Given the description of an element on the screen output the (x, y) to click on. 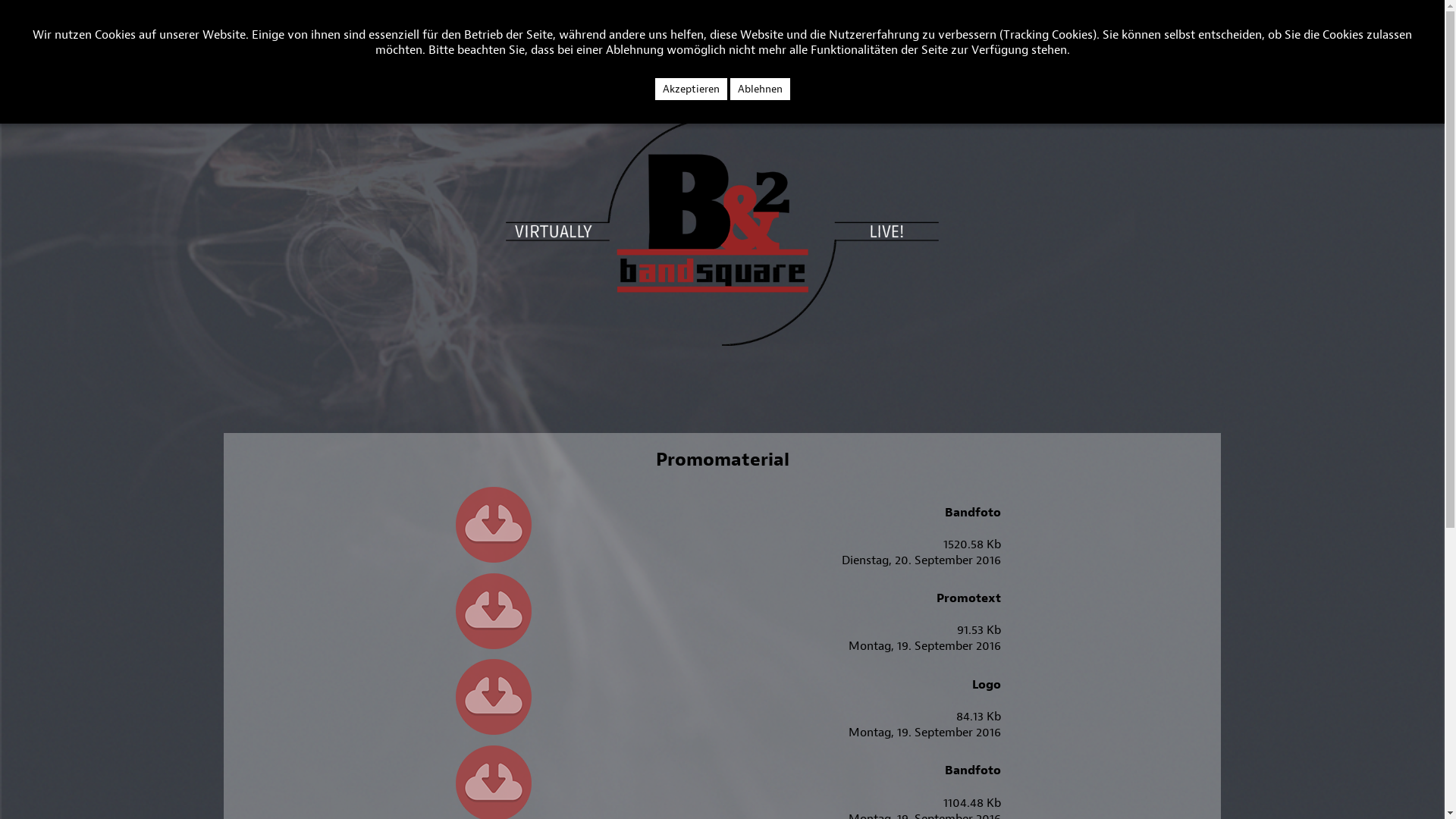
Promotext Element type: text (968, 597)
DOWNLOAD Element type: text (318, 43)
Bandfoto Element type: text (972, 511)
Logo Element type: text (986, 683)
Akzeptieren Element type: text (691, 89)
ABOUT Element type: text (25, 43)
SONGS Element type: text (180, 43)
LOOK & LISTEN Element type: text (102, 43)
Ablehnen Element type: text (759, 89)
CONTACT Element type: text (242, 43)
Bandfoto Element type: text (972, 769)
